Given the description of an element on the screen output the (x, y) to click on. 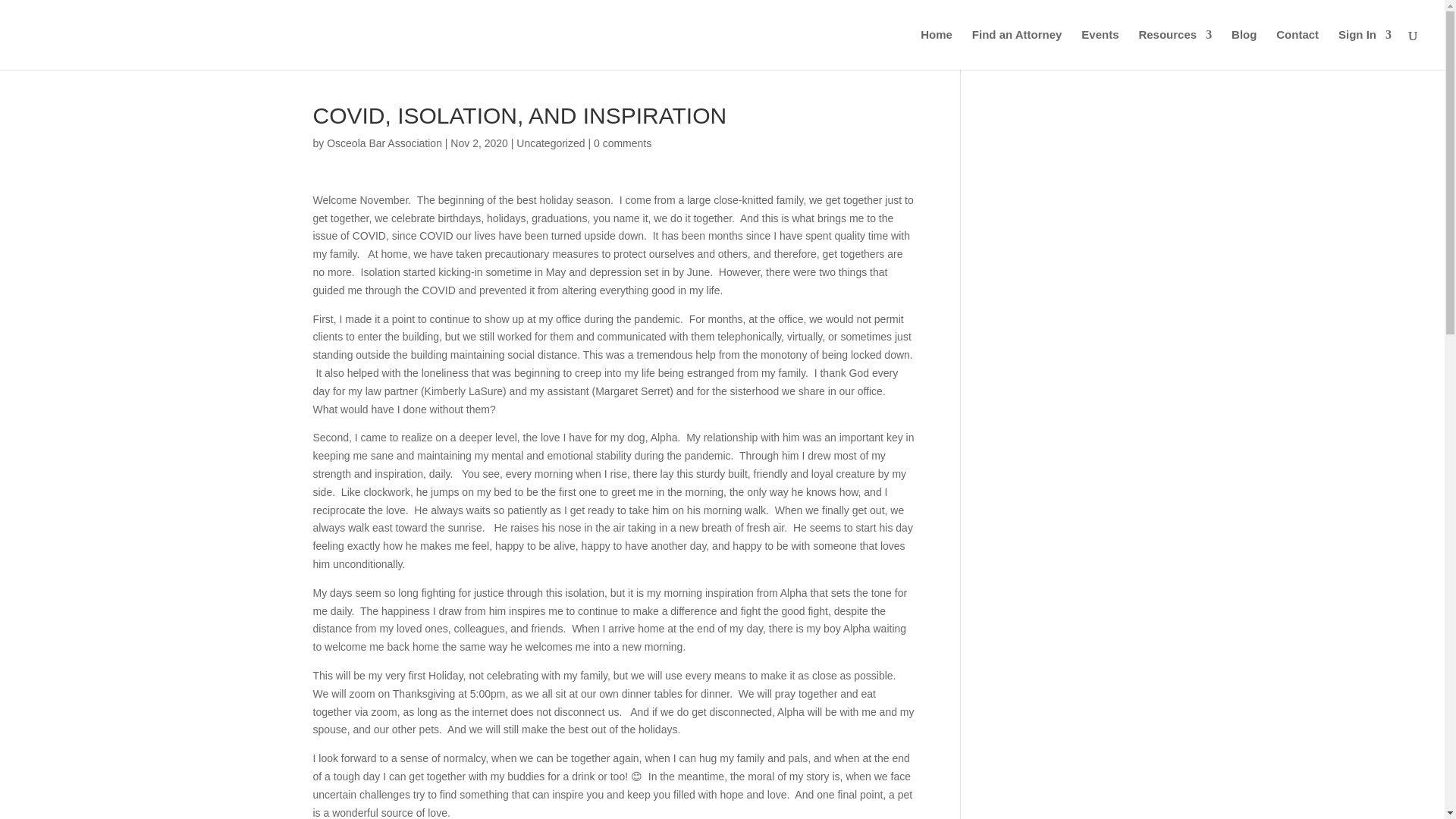
0 comments (622, 143)
Home (936, 49)
Sign In (1364, 49)
Find an Attorney (1017, 49)
Uncategorized (550, 143)
Contact (1297, 49)
Events (1099, 49)
Posts by Osceola Bar Association (384, 143)
Blog (1243, 49)
Resources (1174, 49)
Osceola Bar Association (384, 143)
